Given the description of an element on the screen output the (x, y) to click on. 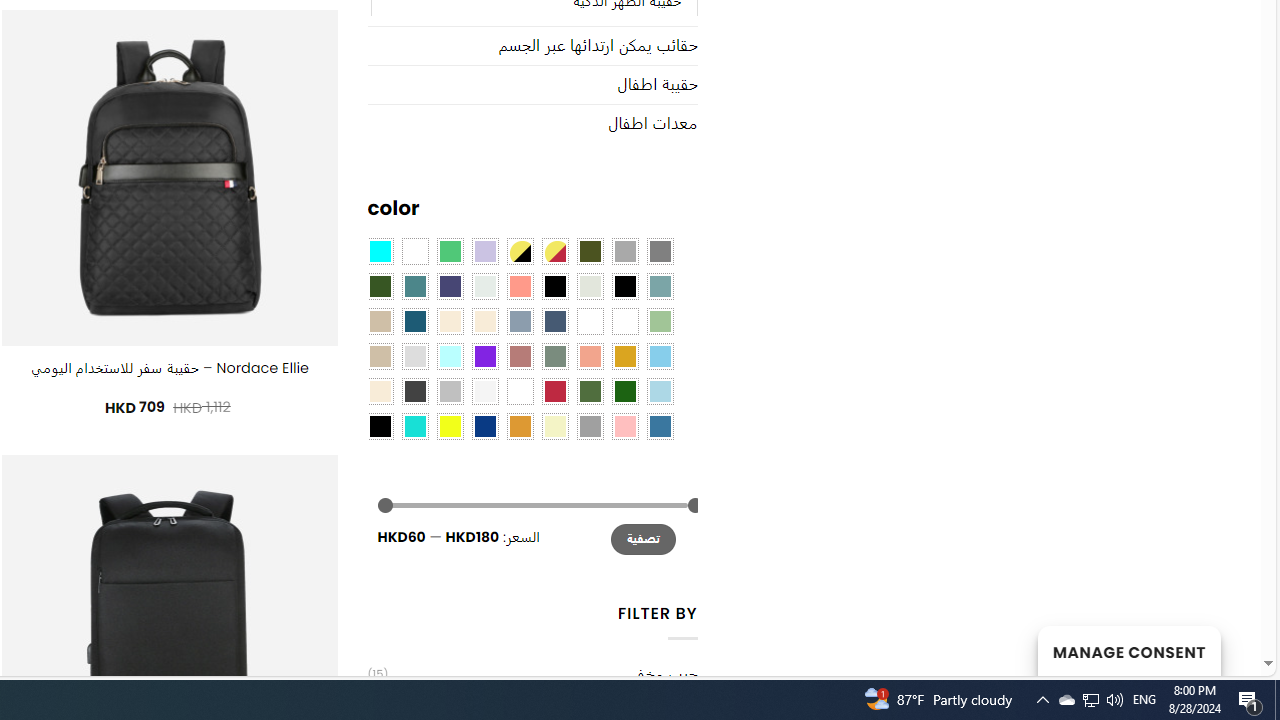
Kelp (589, 321)
Yellow-Black (519, 251)
Brownie (379, 321)
Rose (519, 355)
Yellow-Red (554, 251)
